Given the description of an element on the screen output the (x, y) to click on. 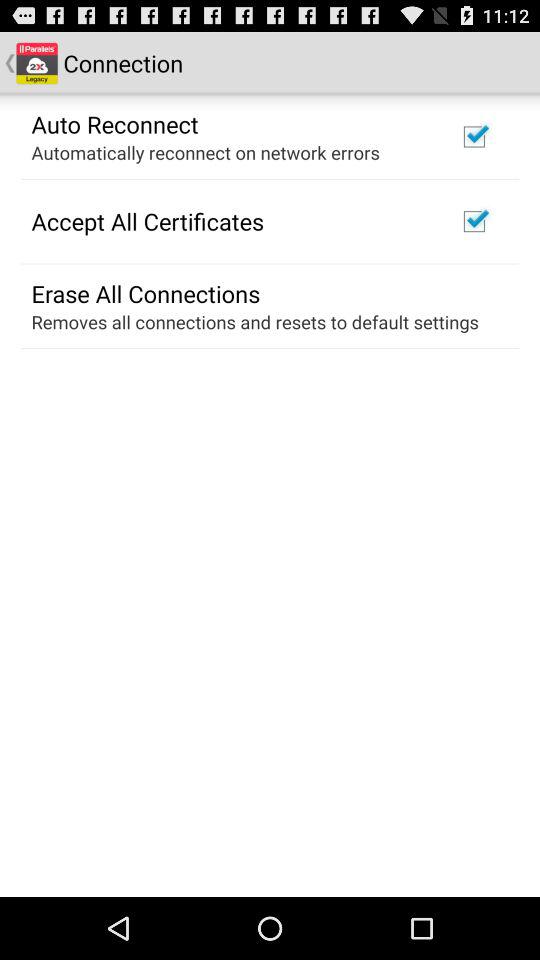
click app above erase all connections app (147, 221)
